Given the description of an element on the screen output the (x, y) to click on. 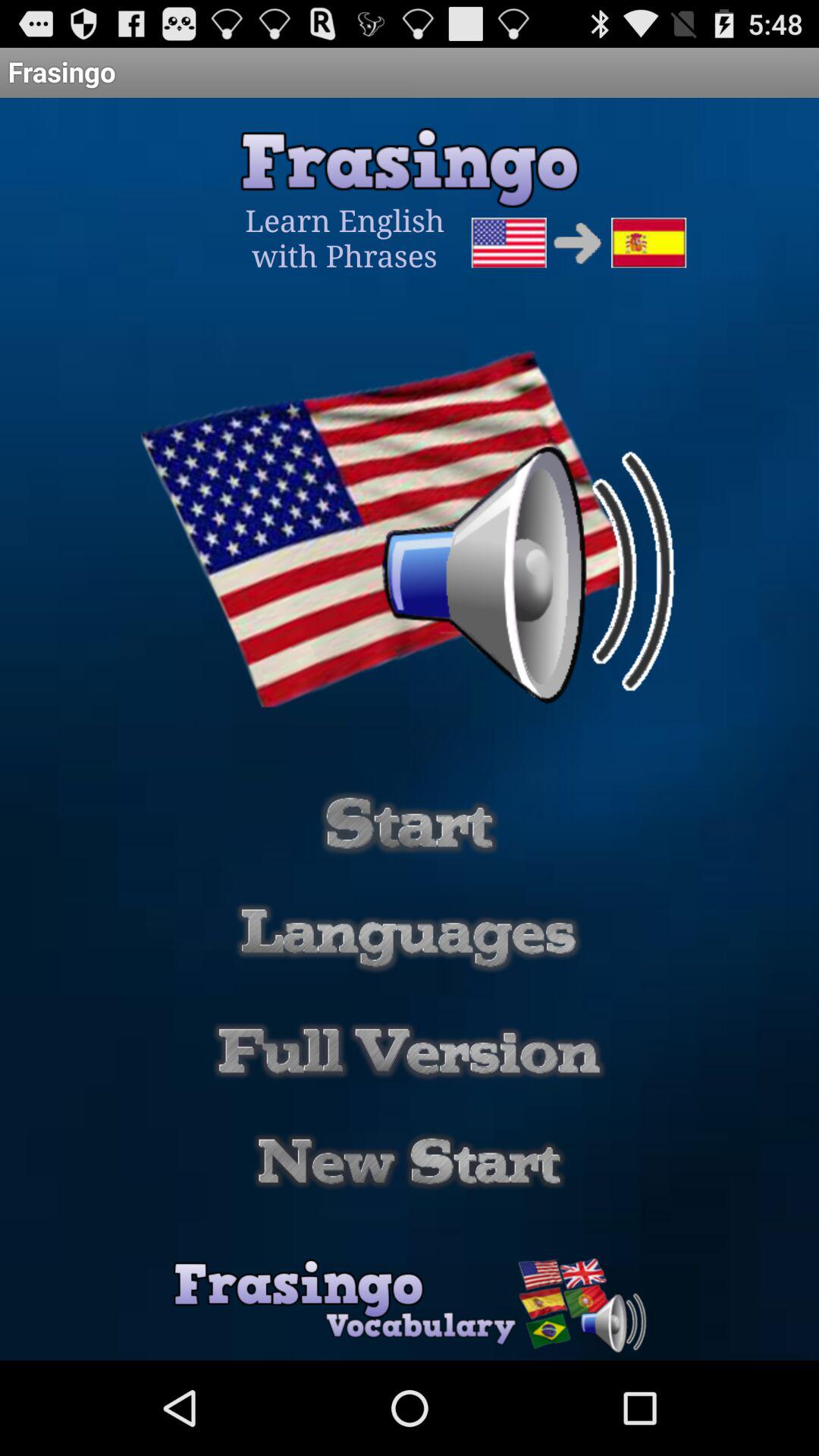
new start (409, 1161)
